Given the description of an element on the screen output the (x, y) to click on. 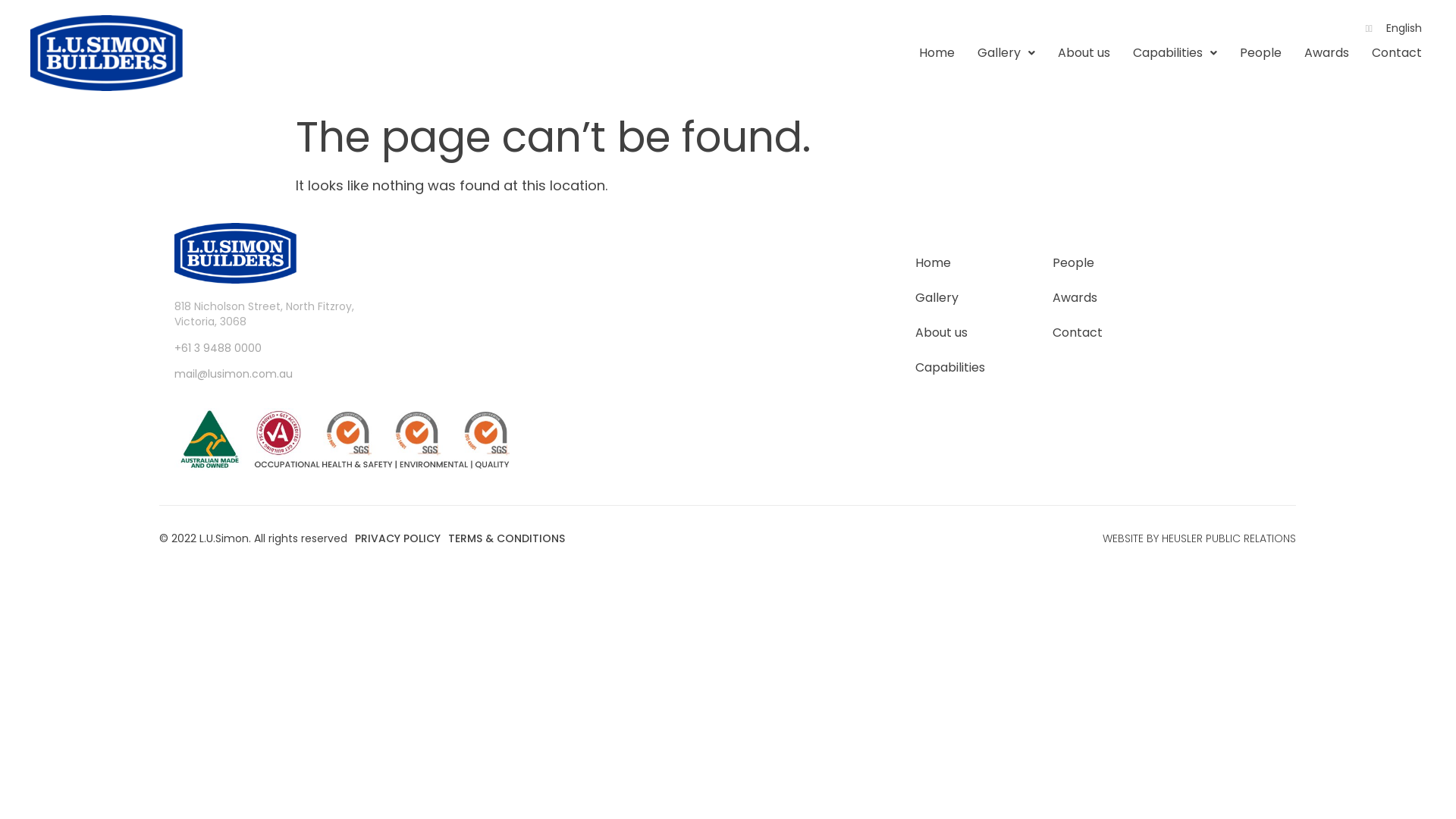
About us Element type: text (1083, 52)
WEBSITE BY HEUSLER PUBLIC RELATIONS Element type: text (1198, 538)
mail@lusimon.com.au Element type: text (233, 373)
People Element type: text (1077, 262)
English Element type: text (1403, 27)
About us Element type: text (949, 332)
People Element type: text (1260, 52)
Capabilities Element type: text (949, 367)
Contact Element type: text (1396, 52)
Capabilities Element type: text (1174, 52)
Contact Element type: text (1077, 332)
+61 3 9488 0000 Element type: text (217, 347)
Home Element type: text (949, 262)
PRIVACY POLICY Element type: text (397, 538)
Home Element type: text (936, 52)
Awards Element type: text (1077, 297)
Gallery Element type: text (949, 297)
Gallery Element type: text (1006, 52)
Awards Element type: text (1326, 52)
